Given the description of an element on the screen output the (x, y) to click on. 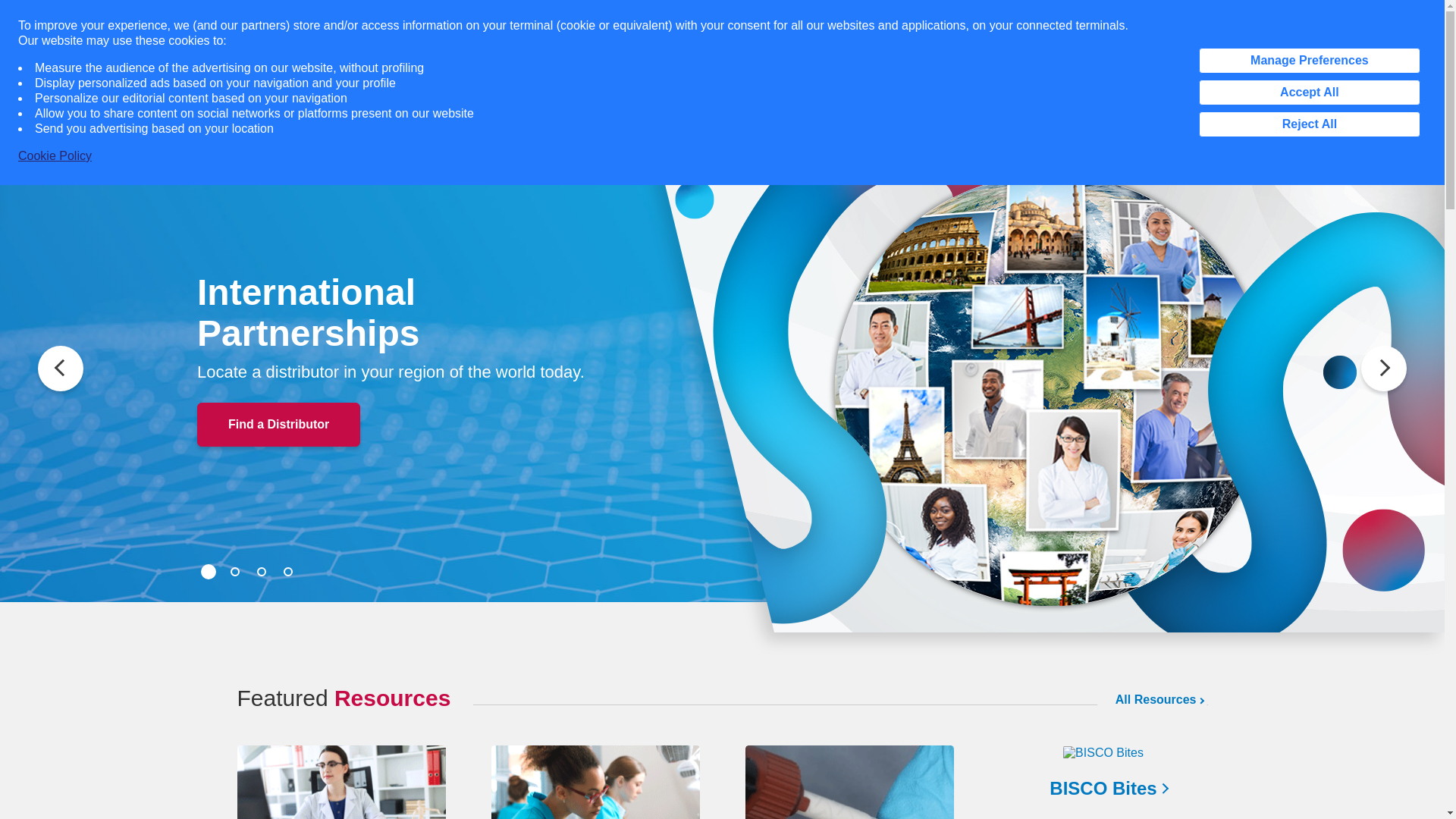
1-847-534-6000 (1125, 16)
Manage Preferences (1309, 60)
Accept All (1309, 92)
Reject All (1309, 124)
Cookie Policy (54, 155)
Products (435, 93)
Faux Button (5, 2)
